Given the description of an element on the screen output the (x, y) to click on. 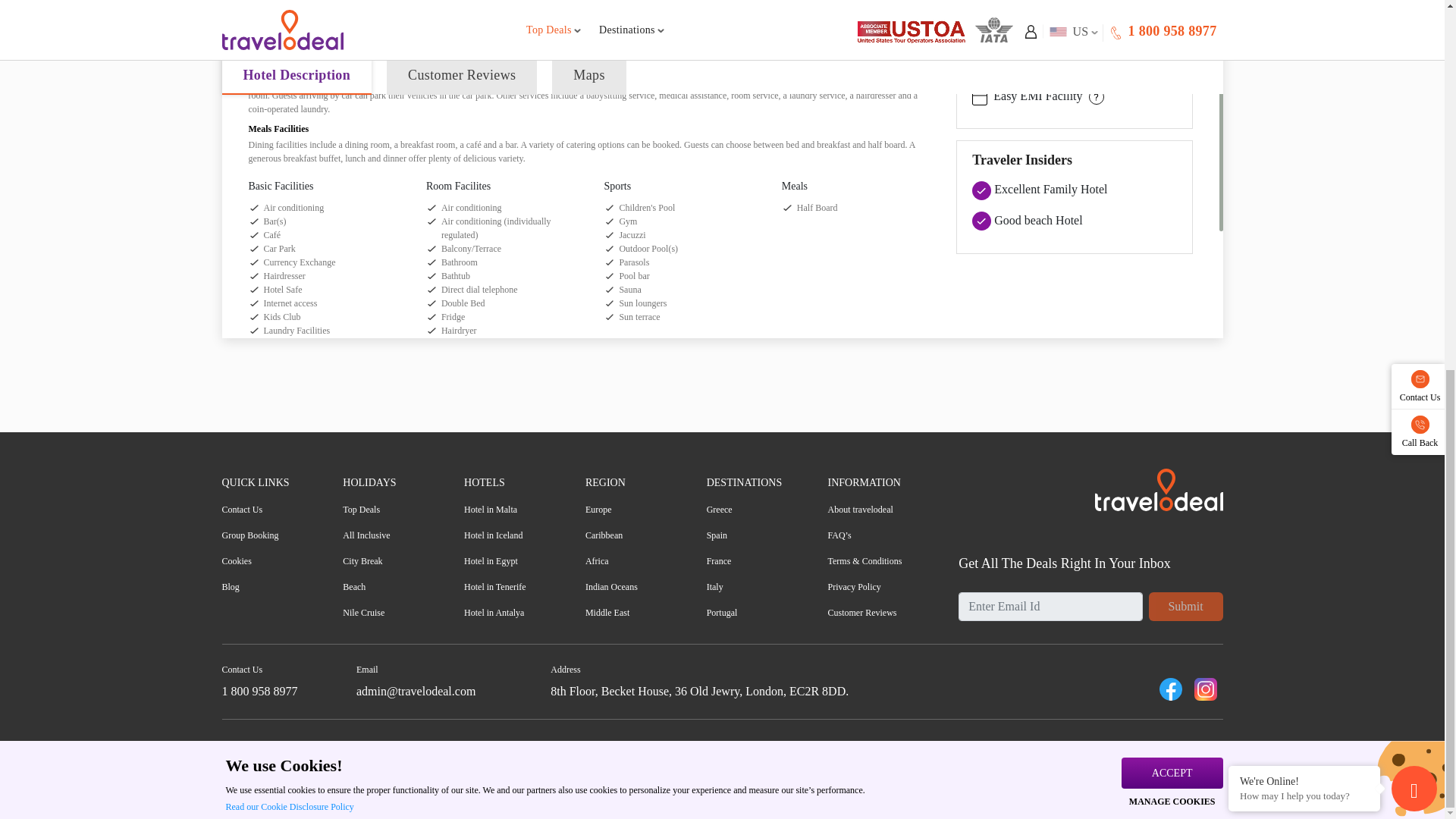
We're Online! (1304, 110)
How may I help you today? (1304, 124)
